Given the description of an element on the screen output the (x, y) to click on. 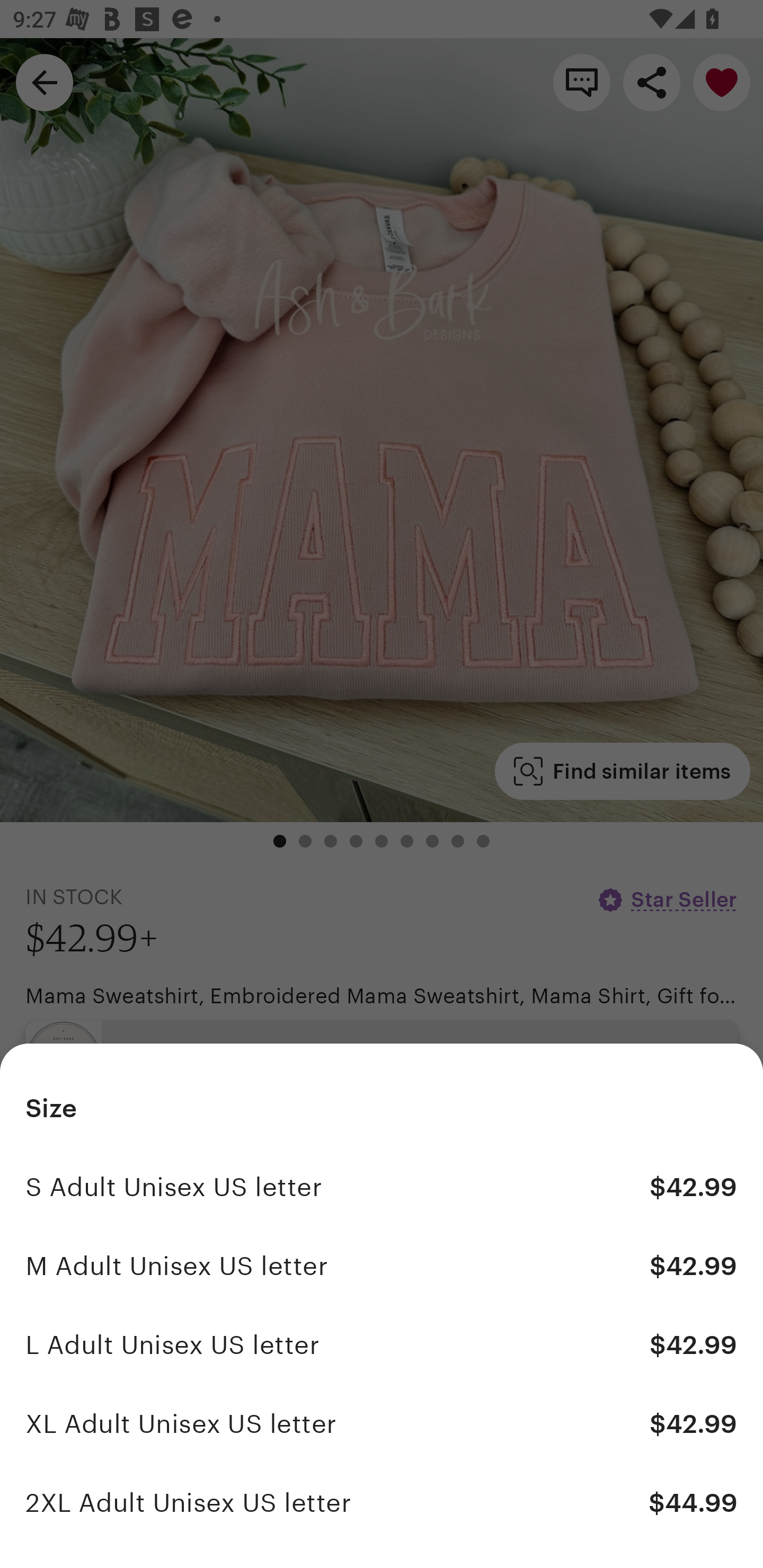
S Adult Unisex US letter $42.99 (381, 1186)
M Adult Unisex US letter $42.99 (381, 1266)
L Adult Unisex US letter $42.99 (381, 1345)
XL Adult Unisex US letter $42.99 (381, 1423)
2XL Adult Unisex US letter $44.99 (381, 1502)
